Given the description of an element on the screen output the (x, y) to click on. 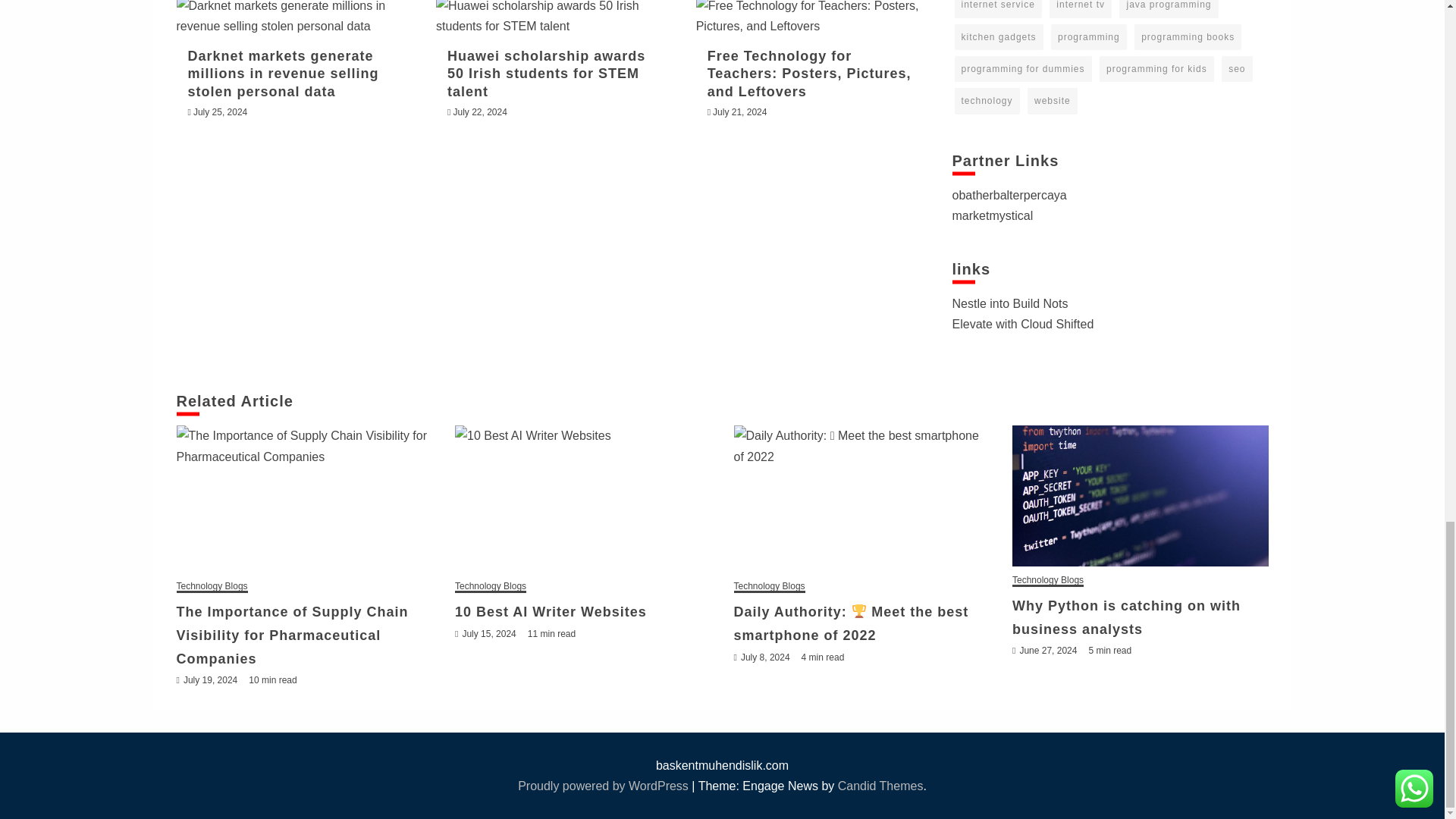
Huawei scholarship awards 50 Irish students for STEM talent (552, 18)
Why Python is catching on with business analysts (1139, 495)
10 Best AI Writer Websites (582, 498)
